Given the description of an element on the screen output the (x, y) to click on. 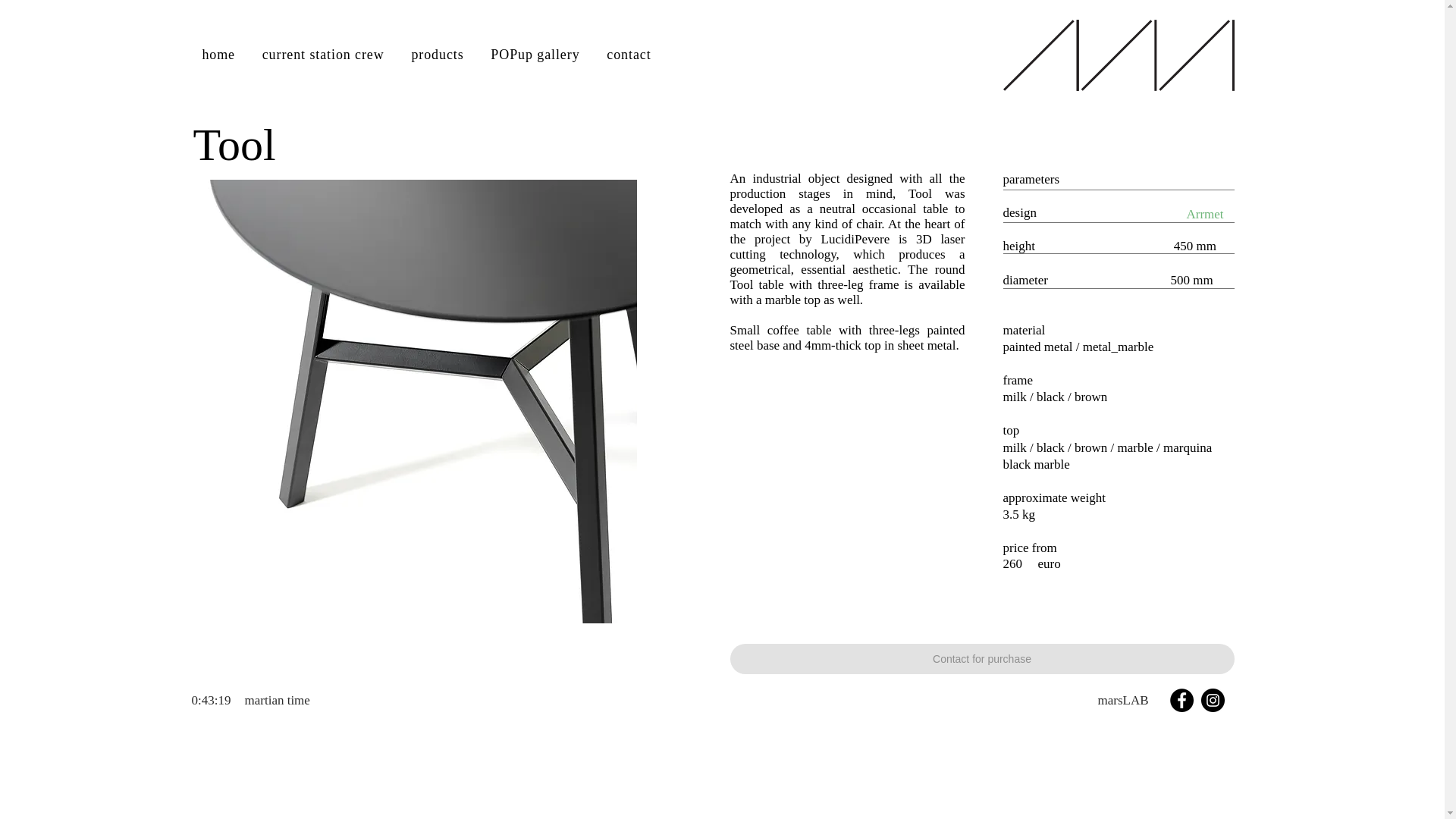
current station crew (322, 54)
products (437, 54)
Contact for purchase (981, 658)
contact (628, 54)
POPup gallery (534, 54)
home (217, 54)
